Given the description of an element on the screen output the (x, y) to click on. 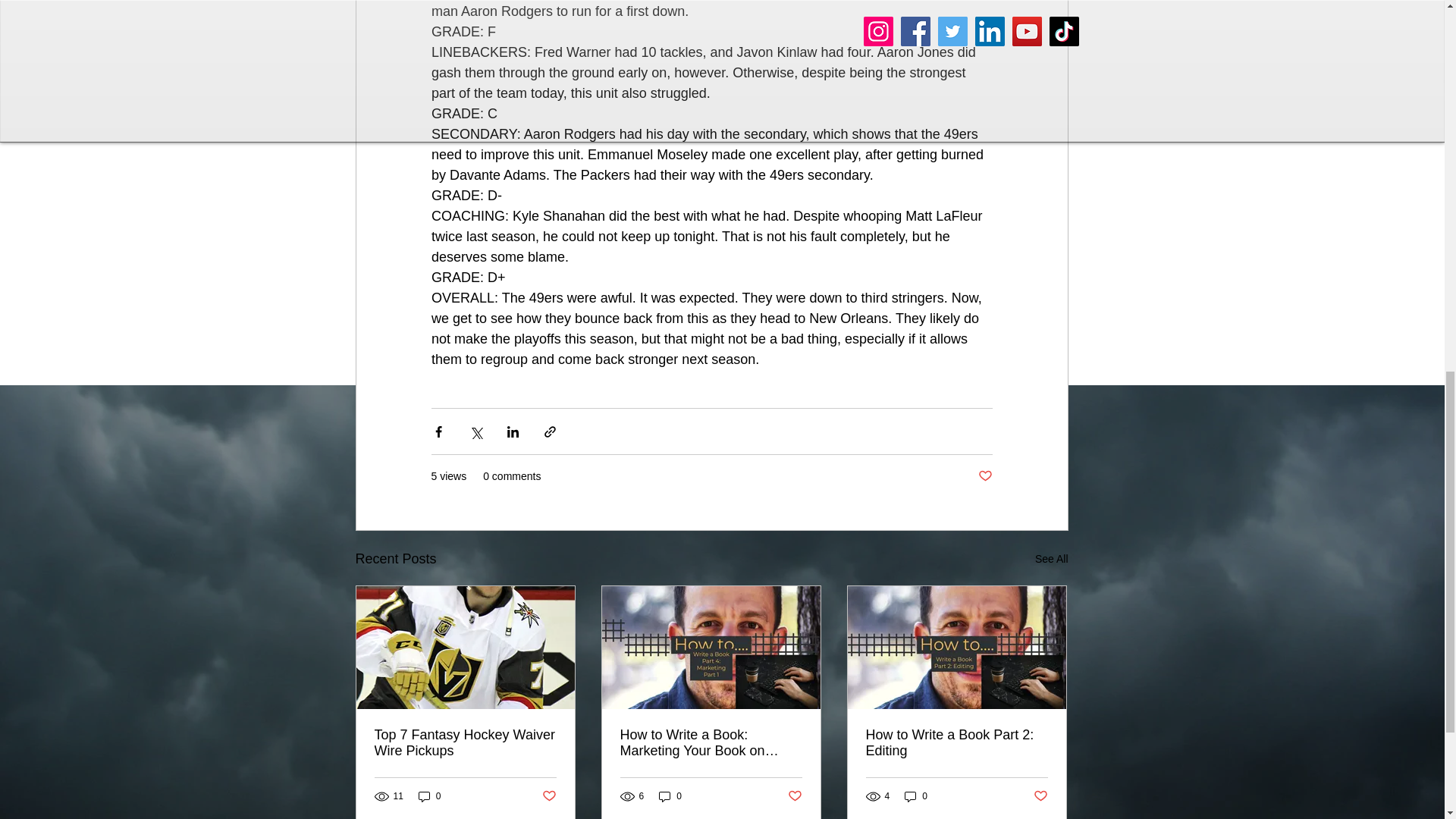
Post not marked as liked (985, 476)
Top 7 Fantasy Hockey Waiver Wire Pickups (465, 743)
See All (1051, 558)
Post not marked as liked (548, 796)
Post not marked as liked (794, 796)
0 (429, 795)
How to Write a Book: Marketing Your Book on Social Media (711, 743)
0 (670, 795)
